Given the description of an element on the screen output the (x, y) to click on. 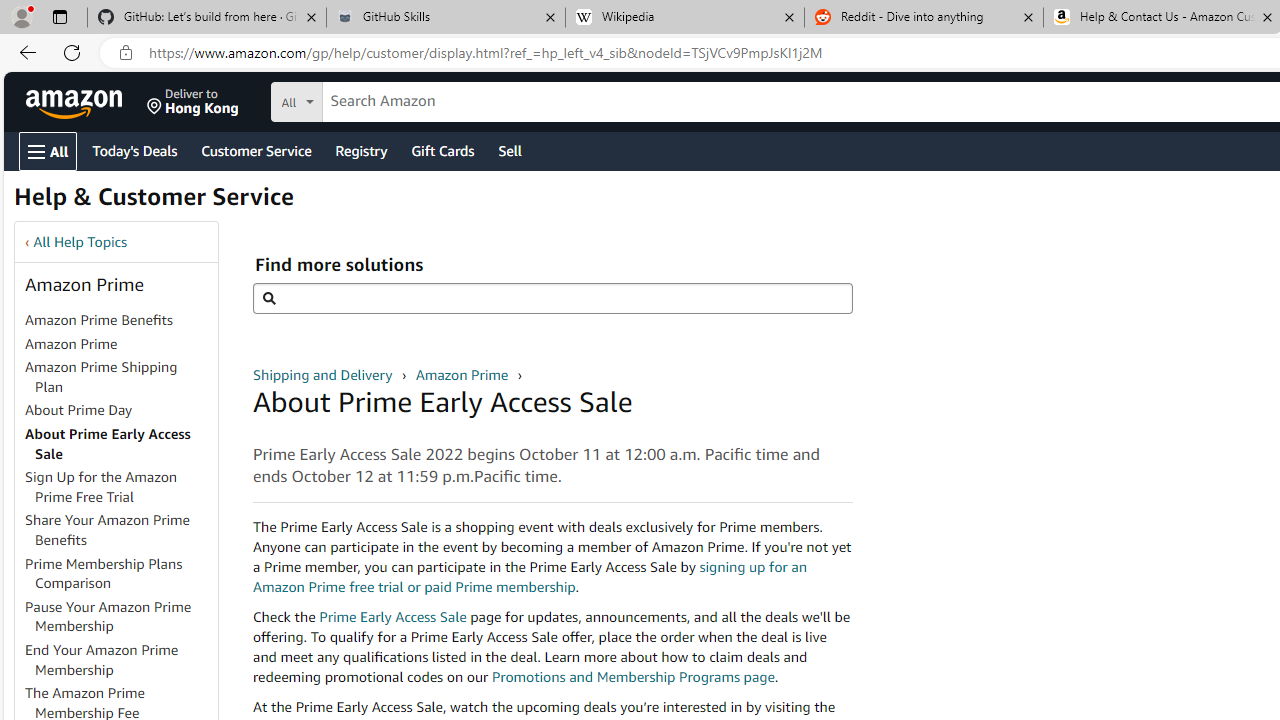
Reddit - Dive into anything (924, 17)
Find more solutions (552, 297)
Amazon Prime Shipping Plan (120, 377)
About Prime Early Access Sale (120, 444)
Pause Your Amazon Prime Membership (120, 616)
Registry (360, 150)
Sign Up for the Amazon Prime Free Trial (101, 487)
Prime Membership Plans Comparison (104, 573)
All Help Topics (80, 242)
Amazon Prime Shipping Plan (101, 376)
End Your Amazon Prime Membership (102, 659)
About Prime Day (120, 411)
End Your Amazon Prime Membership (120, 660)
